Given the description of an element on the screen output the (x, y) to click on. 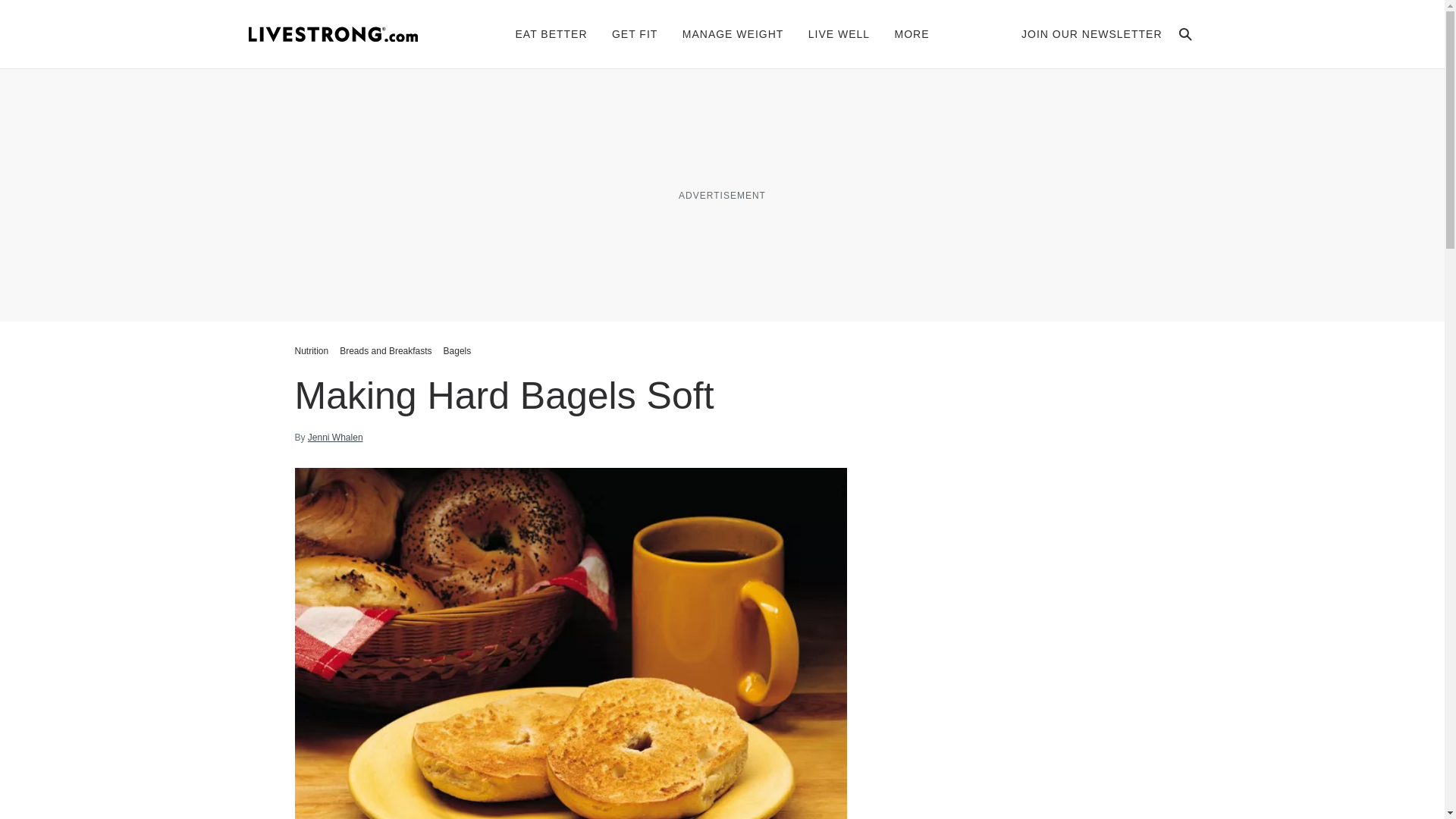
EAT BETTER (551, 33)
JOIN OUR NEWSLETTER (1091, 33)
Jenni Whalen (334, 437)
Breads and Breakfasts (385, 350)
Nutrition (312, 350)
MANAGE WEIGHT (733, 33)
GET FIT (634, 33)
LIVE WELL (838, 33)
Bagels (457, 350)
